Given the description of an element on the screen output the (x, y) to click on. 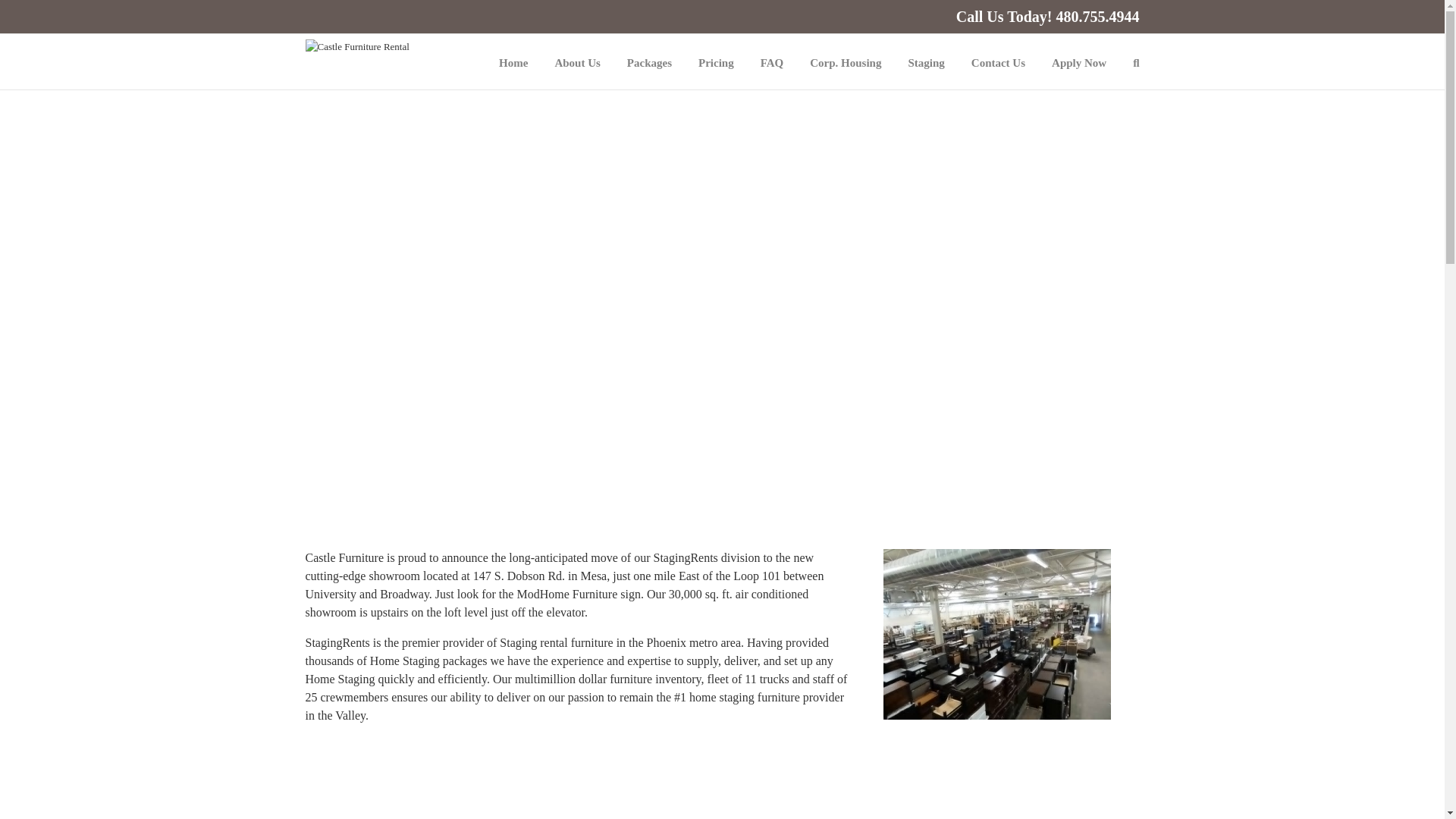
Apply Now (1078, 61)
Contact Us (998, 61)
Corp. Housing (844, 61)
